Given the description of an element on the screen output the (x, y) to click on. 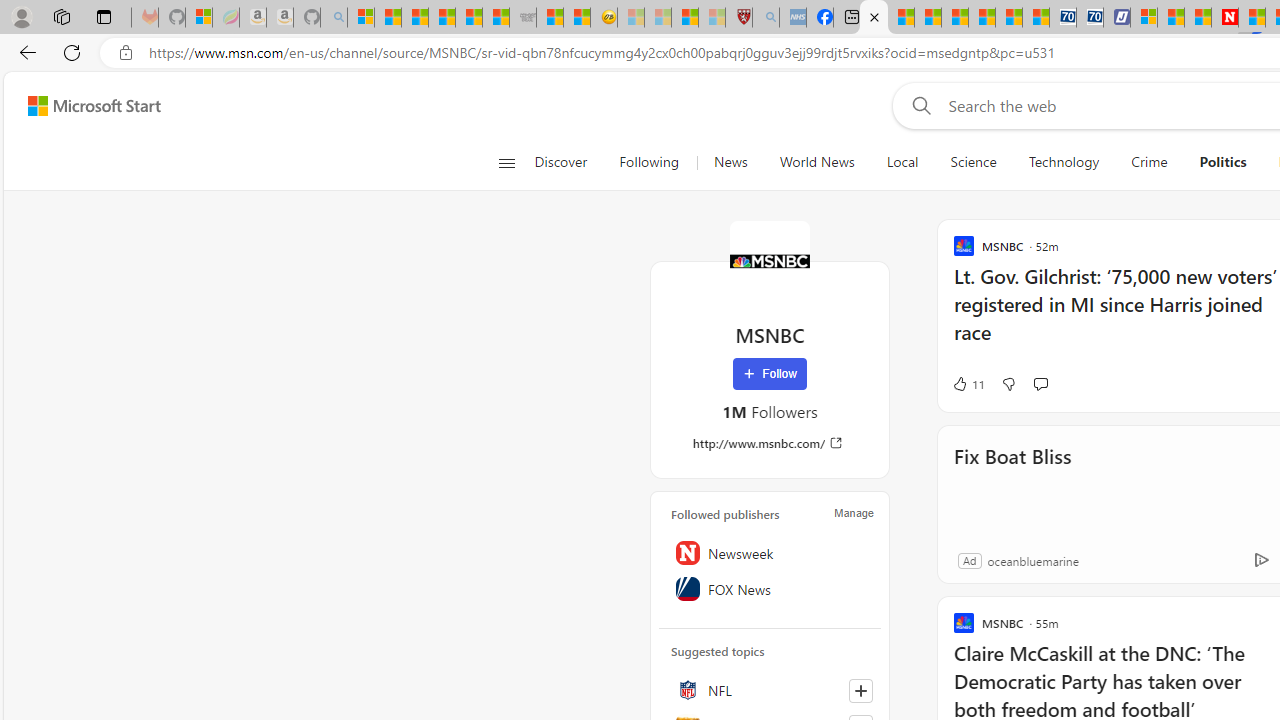
World News (816, 162)
MSNBC (769, 260)
Robert H. Shmerling, MD - Harvard Health (738, 17)
Crime (1149, 162)
NCL Adult Asthma Inhaler Choice Guideline - Sleeping (792, 17)
Web search (917, 105)
Start the conversation (1040, 384)
Manage (854, 512)
